Given the description of an element on the screen output the (x, y) to click on. 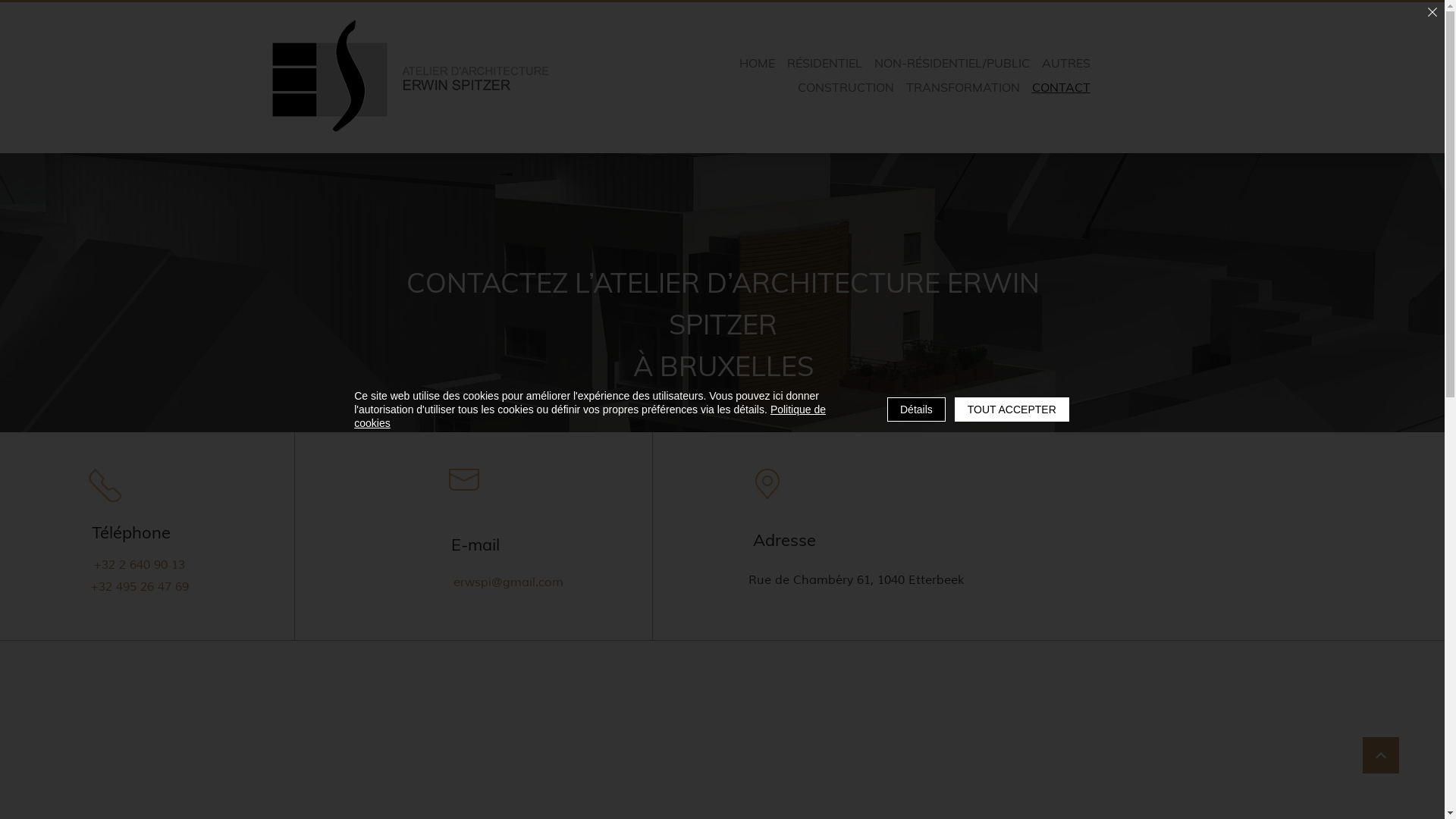
+32 2 640 90 13 Element type: text (137, 564)
HOME Element type: text (756, 62)
Politique de cookies Element type: text (589, 416)
AUTRES Element type: text (1065, 62)
CONSTRUCTION Element type: text (845, 87)
TRANSFORMATION Element type: text (962, 87)
TOUT ACCEPTER Element type: text (1011, 409)
erwspi@gmail.com Element type: text (511, 582)
CONTACT Element type: text (1061, 87)
+32 495 26 47 69 Element type: text (142, 586)
